Given the description of an element on the screen output the (x, y) to click on. 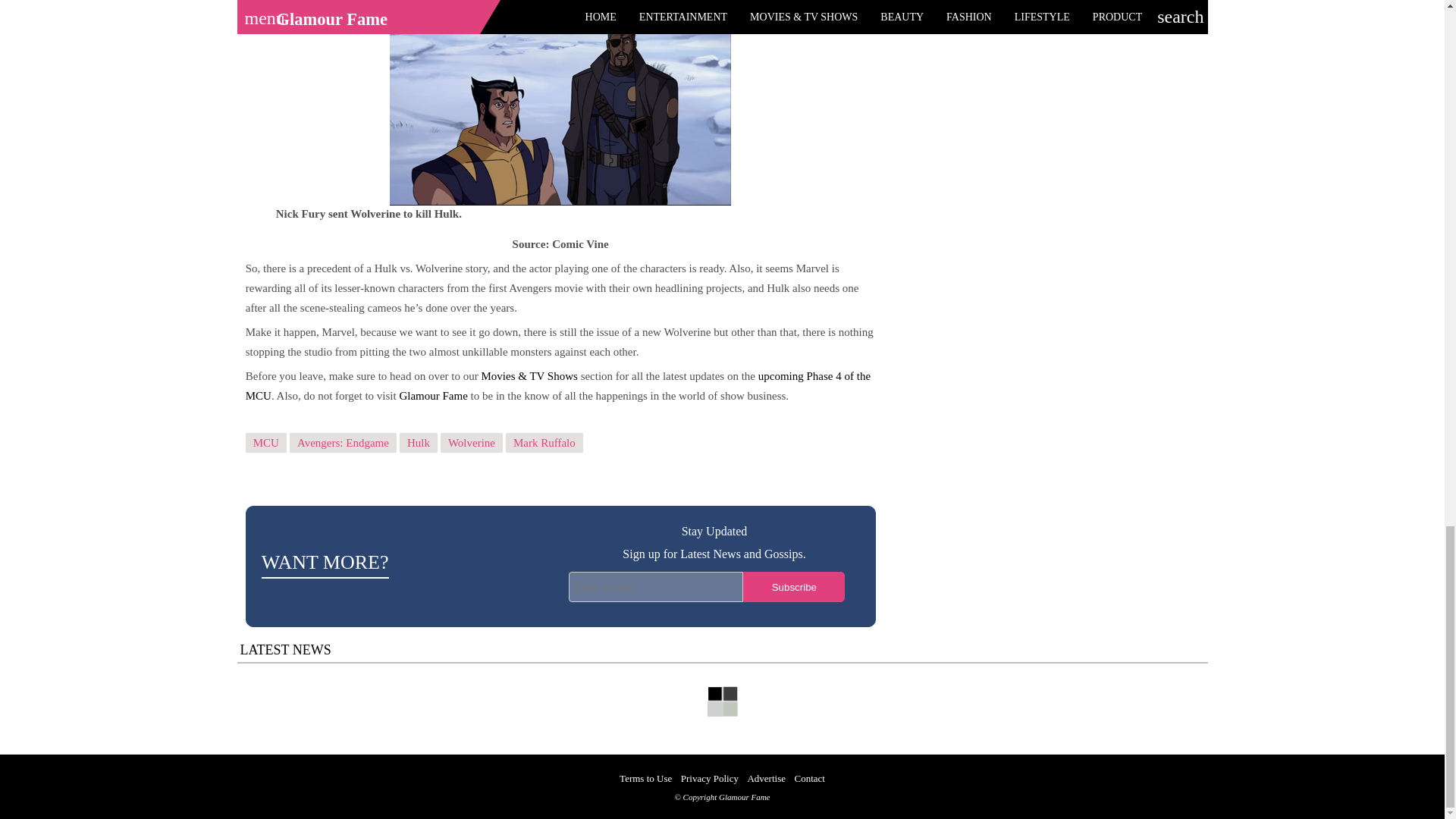
MCU (266, 443)
Avengers: Endgame (342, 443)
Wolverine (471, 443)
upcoming Phase 4 of the MCU (558, 386)
Glamour Fame (432, 395)
Mark Ruffalo (544, 443)
Hulk (418, 443)
